Given the description of an element on the screen output the (x, y) to click on. 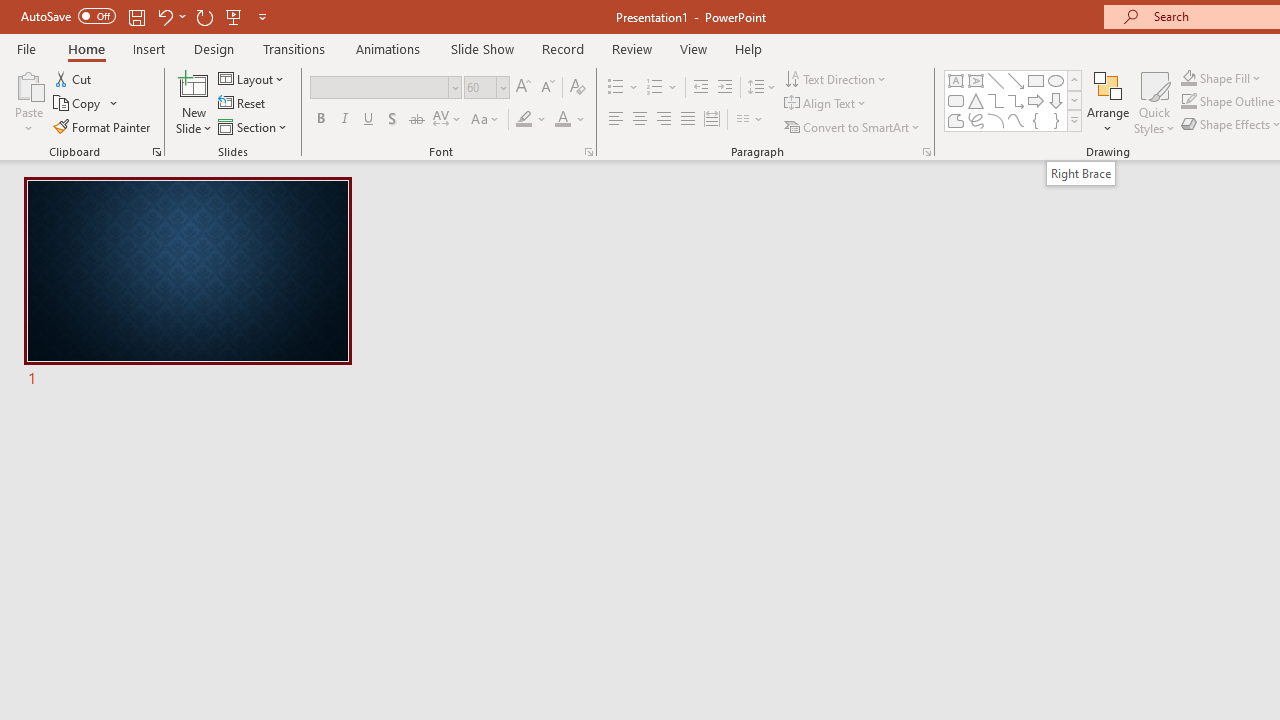
Text Highlight Color Yellow (524, 119)
Format Painter (103, 126)
Justify (687, 119)
Shape Outline Blue, Accent 1 (1188, 101)
